Given the description of an element on the screen output the (x, y) to click on. 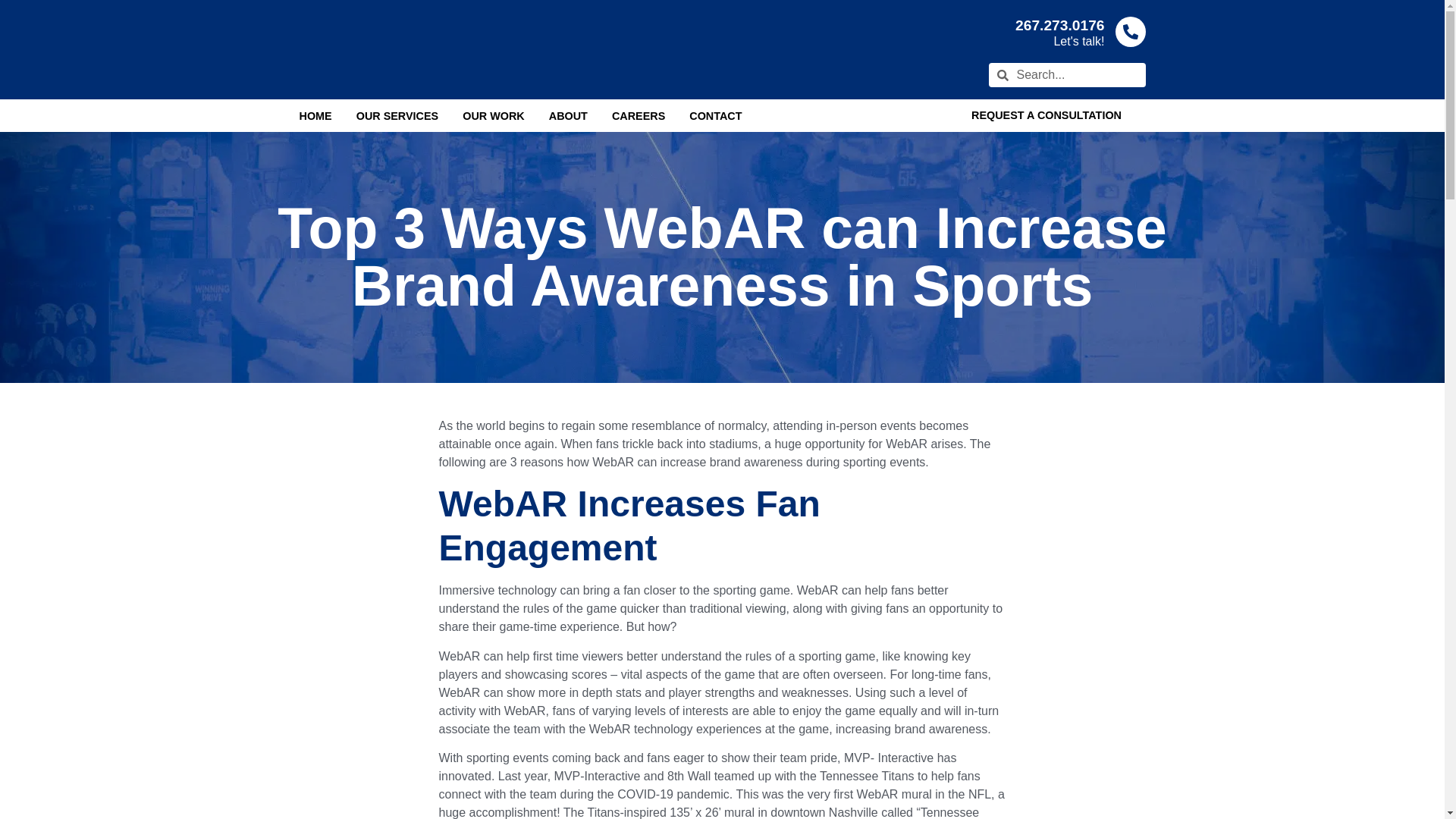
OUR WORK (493, 115)
OUR SERVICES (397, 115)
REQUEST A CONSULTATION (1046, 115)
HOME (314, 115)
ABOUT (568, 115)
CONTACT (714, 115)
CAREERS (638, 115)
267.273.0176 (1058, 25)
